Given the description of an element on the screen output the (x, y) to click on. 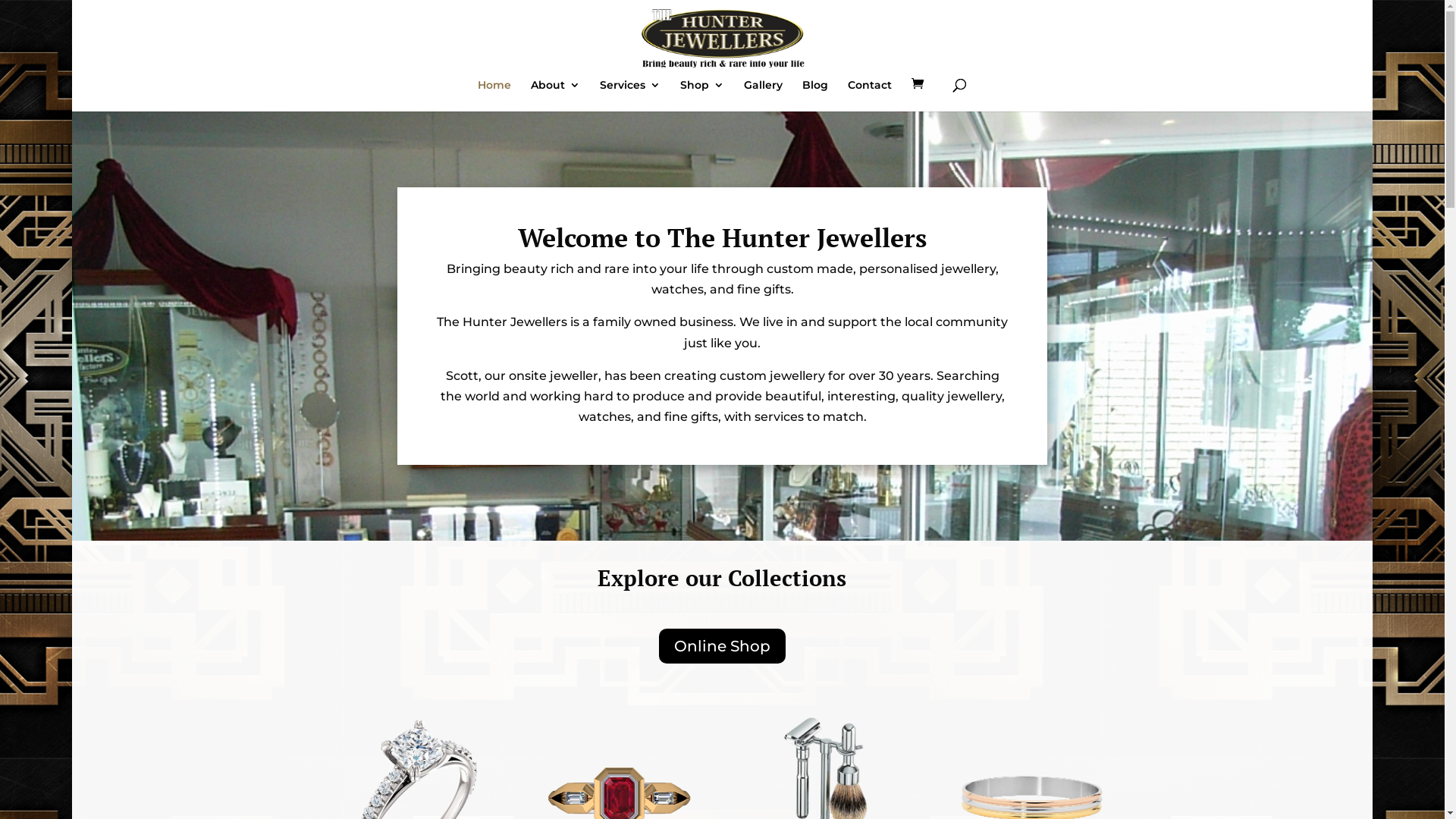
Contact Element type: text (869, 95)
Shop Element type: text (702, 95)
Home Element type: text (494, 95)
Online Shop Element type: text (721, 645)
Gallery Element type: text (762, 95)
Services Element type: text (629, 95)
About Element type: text (555, 95)
Blog Element type: text (815, 95)
